Given the description of an element on the screen output the (x, y) to click on. 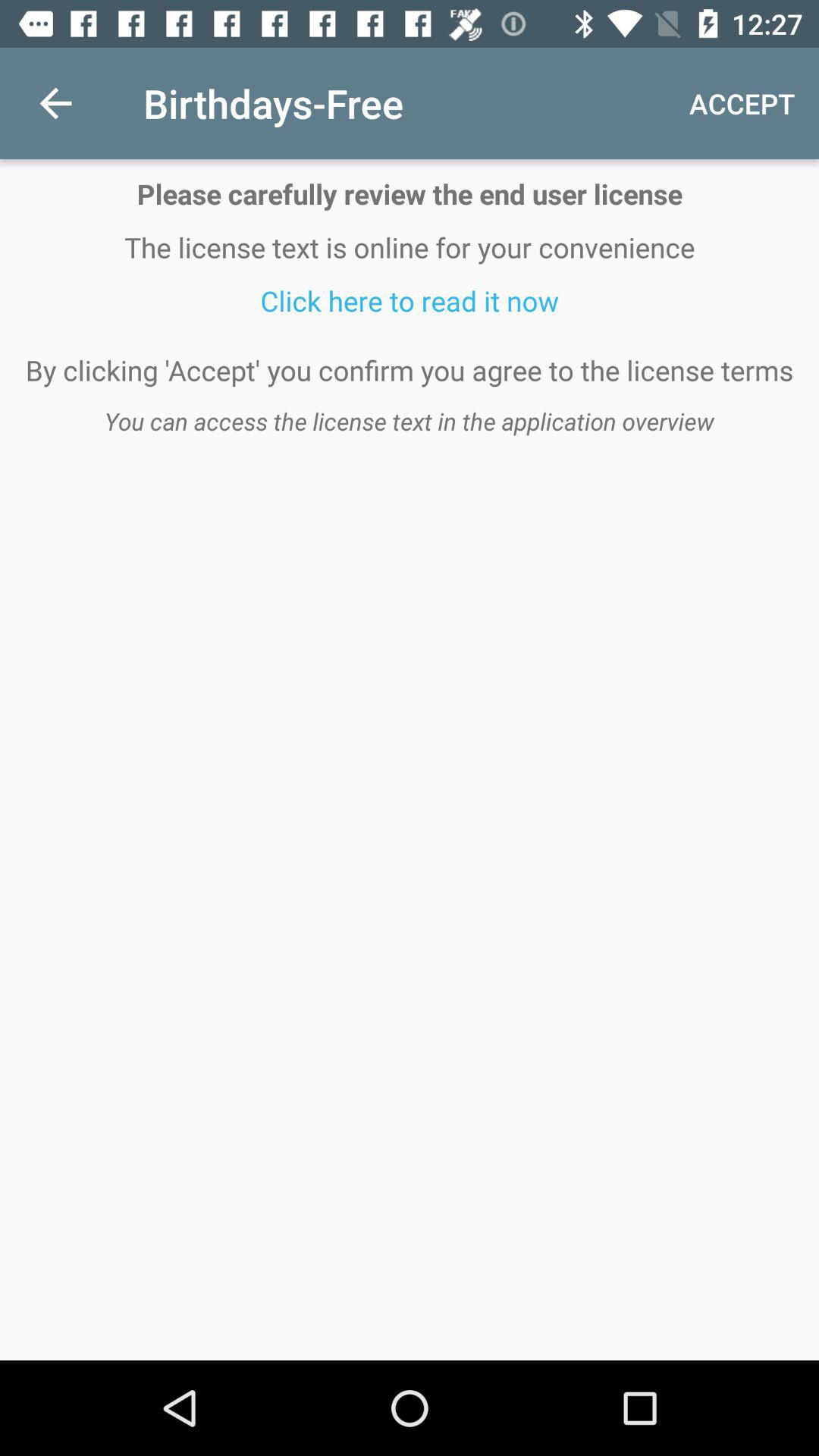
click the click here to icon (409, 300)
